Given the description of an element on the screen output the (x, y) to click on. 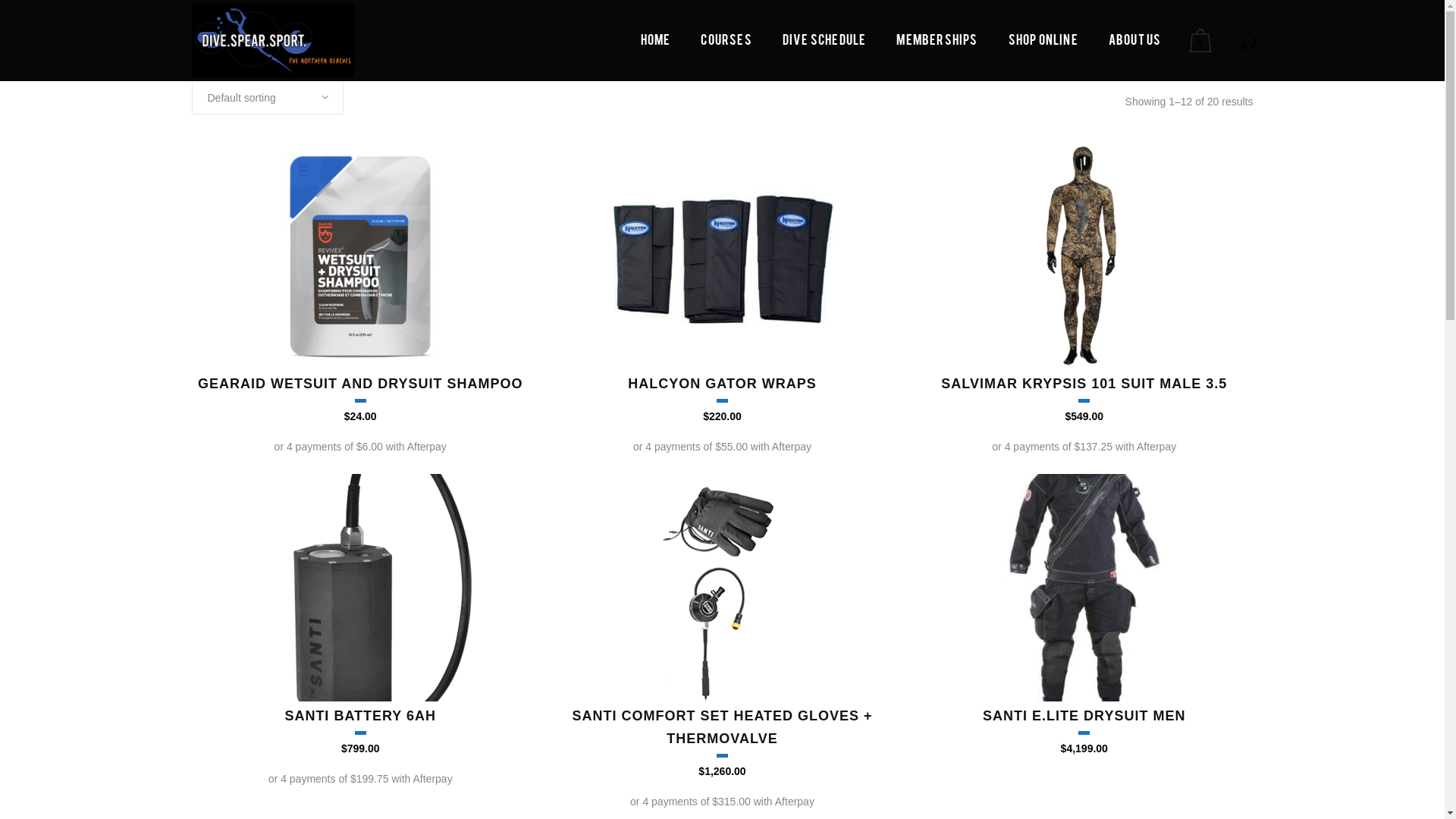
DIVE SCHEDULE Element type: text (824, 40)
ABOUT US Element type: text (1134, 40)
SANTI E.LITE DRYSUIT MEN
$4,199.00 Element type: text (1083, 731)
COURSES Element type: text (725, 40)
HOME Element type: text (655, 40)
0 Element type: text (1203, 40)
SHOP ONLINE Element type: text (1043, 40)
MEMBERSHIPS Element type: text (936, 40)
